Given the description of an element on the screen output the (x, y) to click on. 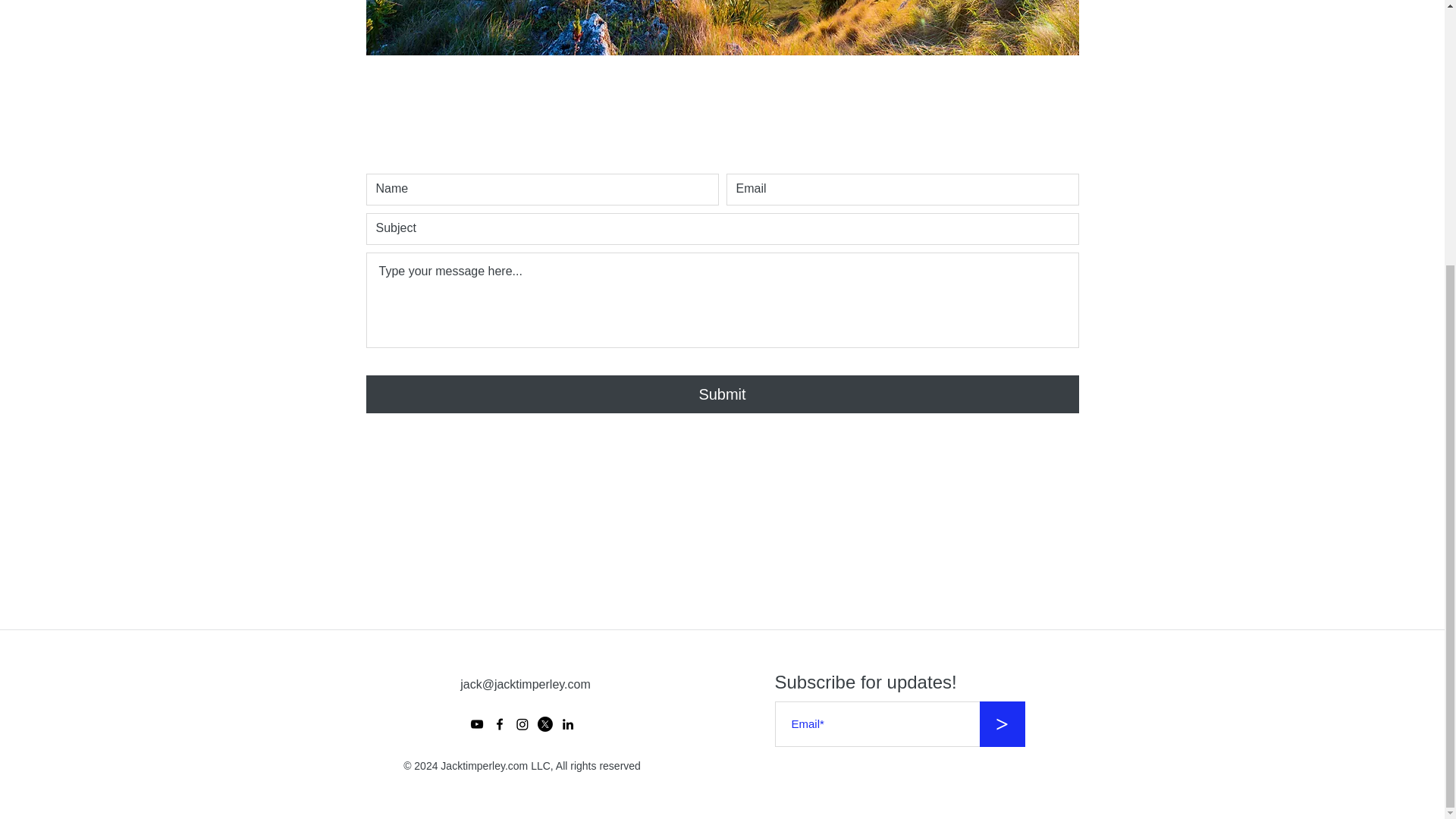
Submit (721, 394)
